Given the description of an element on the screen output the (x, y) to click on. 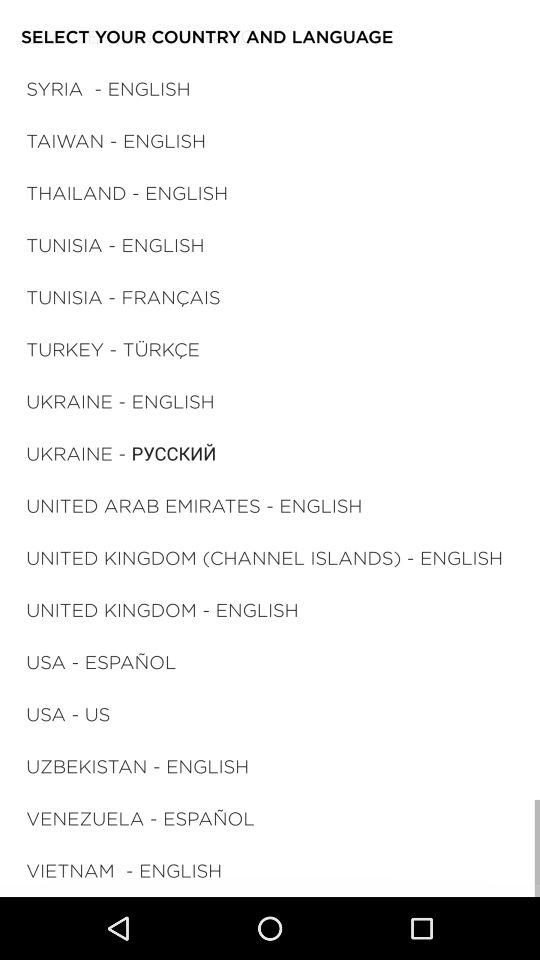
turn off the item above thailand - english icon (115, 140)
